Given the description of an element on the screen output the (x, y) to click on. 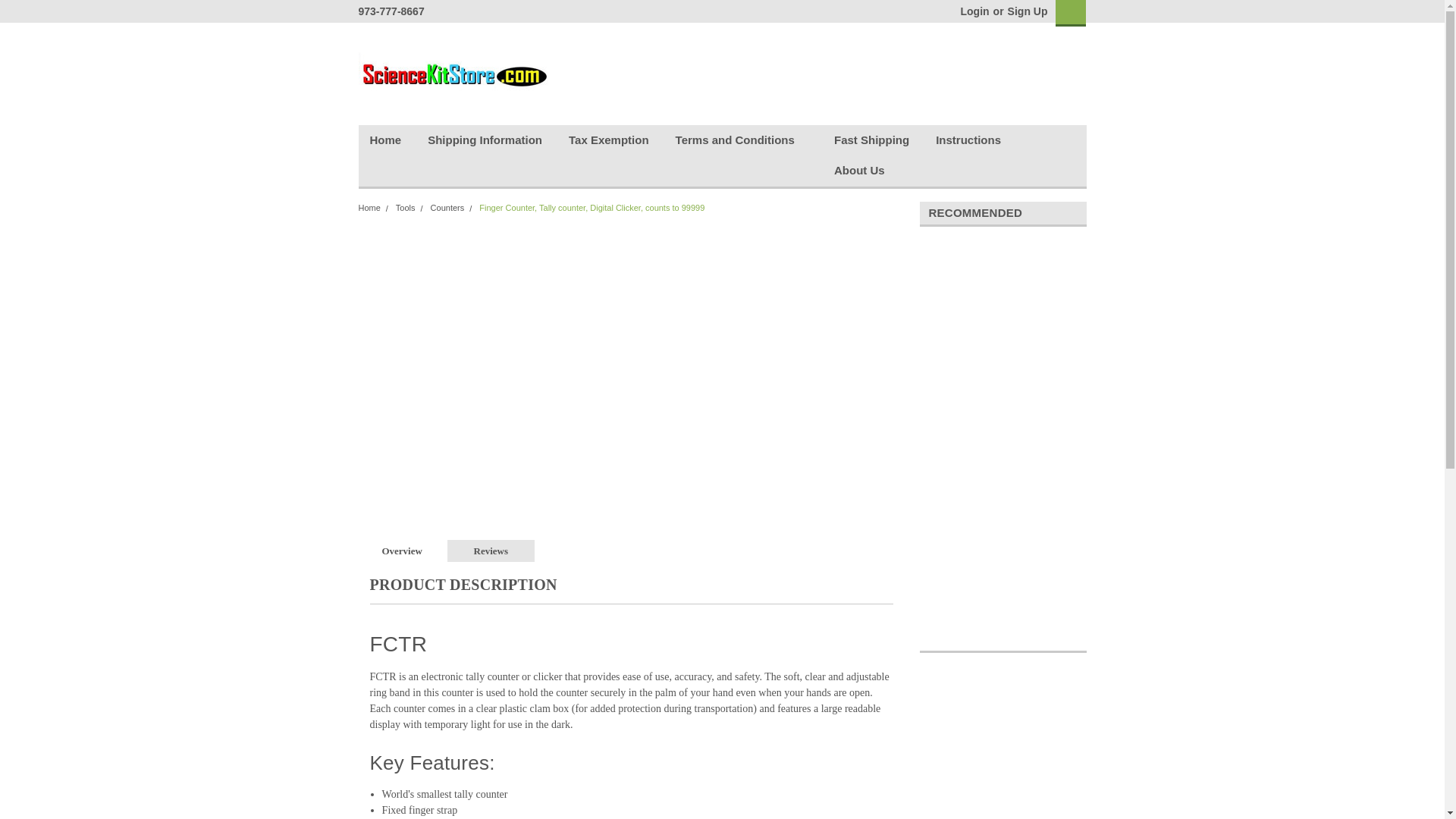
Login (973, 11)
ScienceKitStore.com (452, 75)
Sign Up (1026, 11)
